Given the description of an element on the screen output the (x, y) to click on. 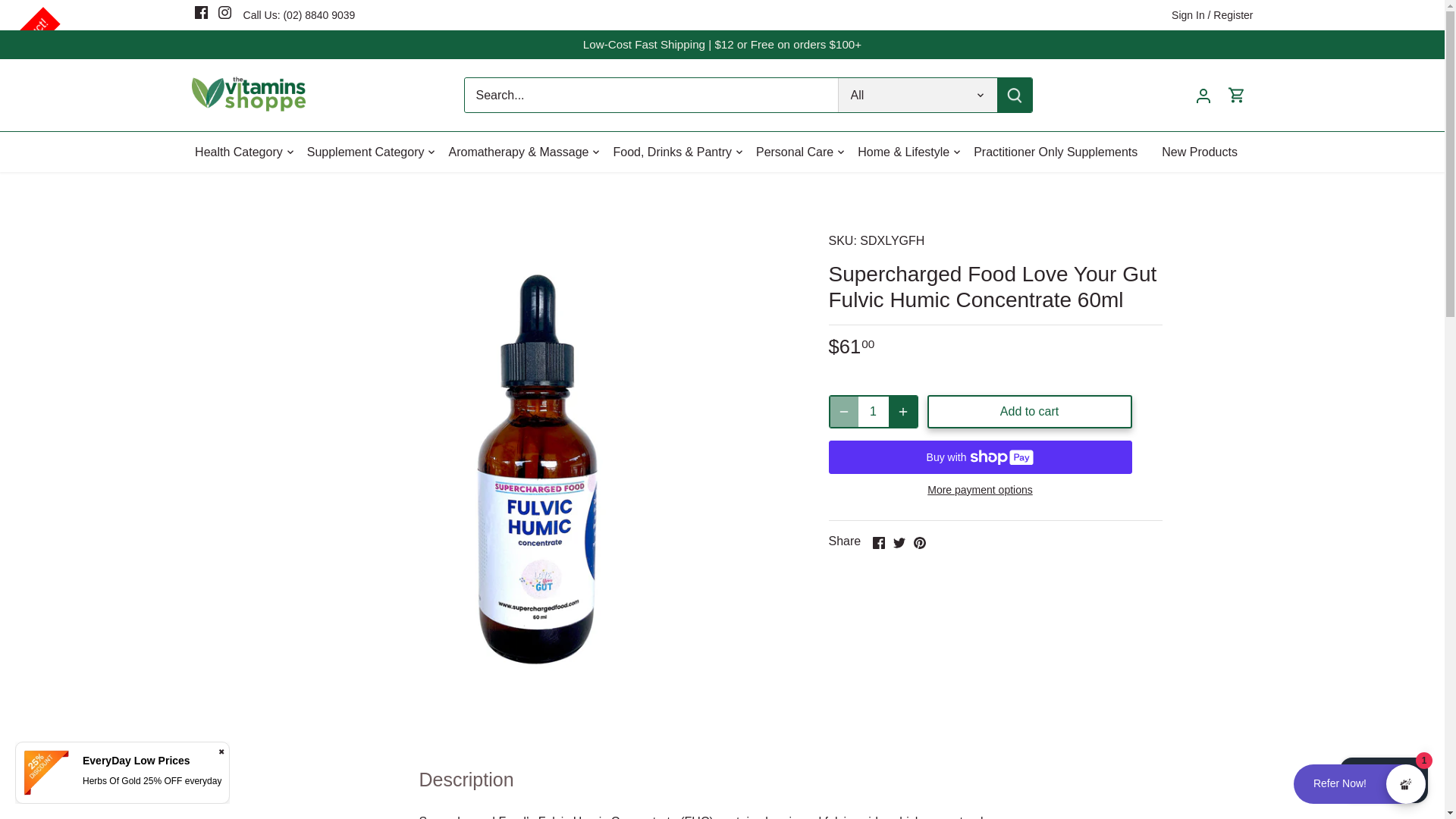
1 (873, 411)
Supplement Category (365, 151)
Twitter (899, 542)
Pinterest (918, 542)
Facebook (201, 11)
Facebook (878, 542)
Instagram (224, 11)
Shopify online store chat (1383, 781)
Health Category (245, 151)
